Given the description of an element on the screen output the (x, y) to click on. 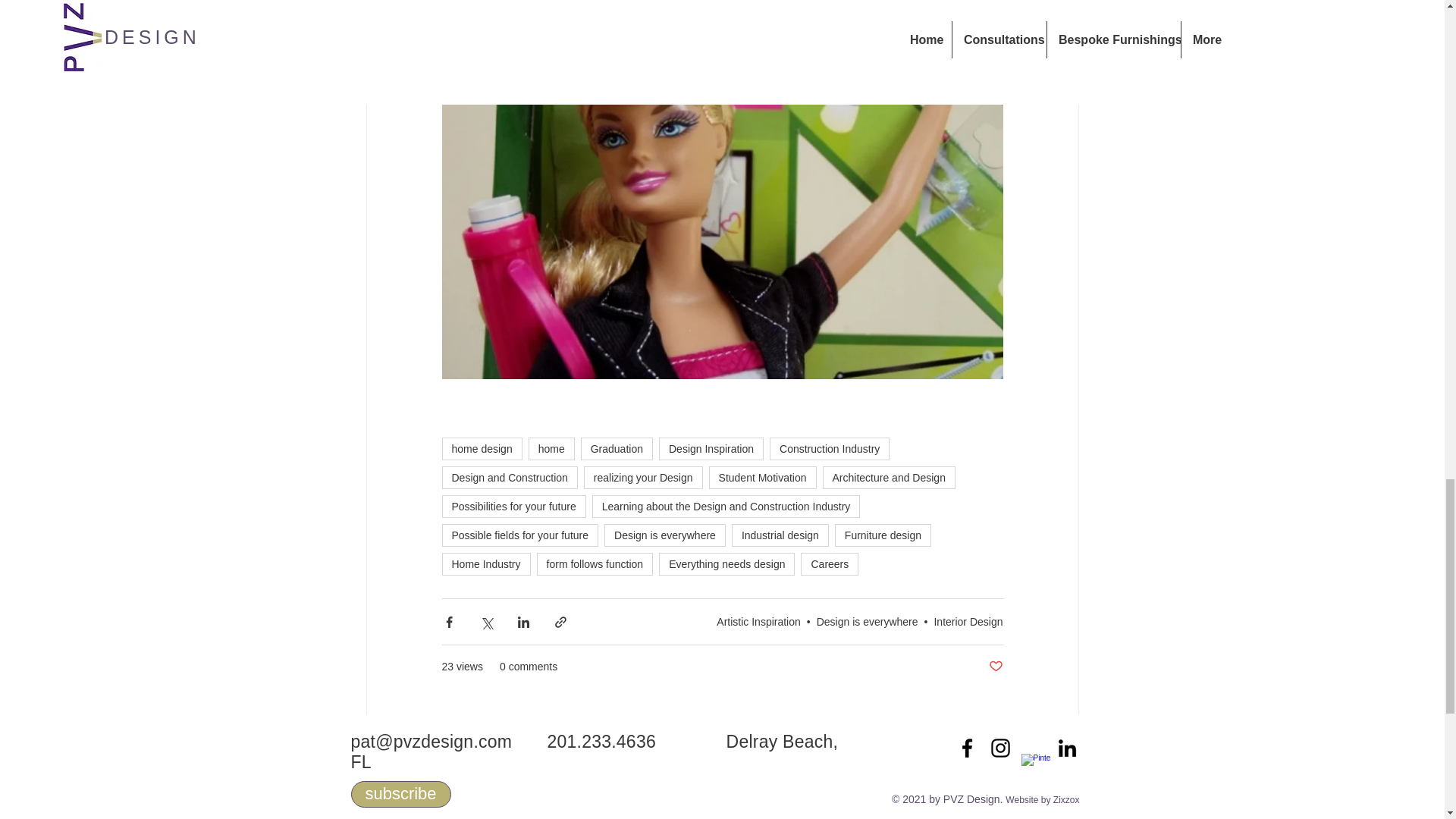
Design is everywhere (664, 535)
Student Motivation (762, 477)
Design and Construction (508, 477)
realizing your Design (643, 477)
Design Inspiration (710, 448)
home (551, 448)
Home Industry (485, 563)
Learning about the Design and Construction Industry (726, 506)
home design (481, 448)
Possible fields for your future (519, 535)
